Given the description of an element on the screen output the (x, y) to click on. 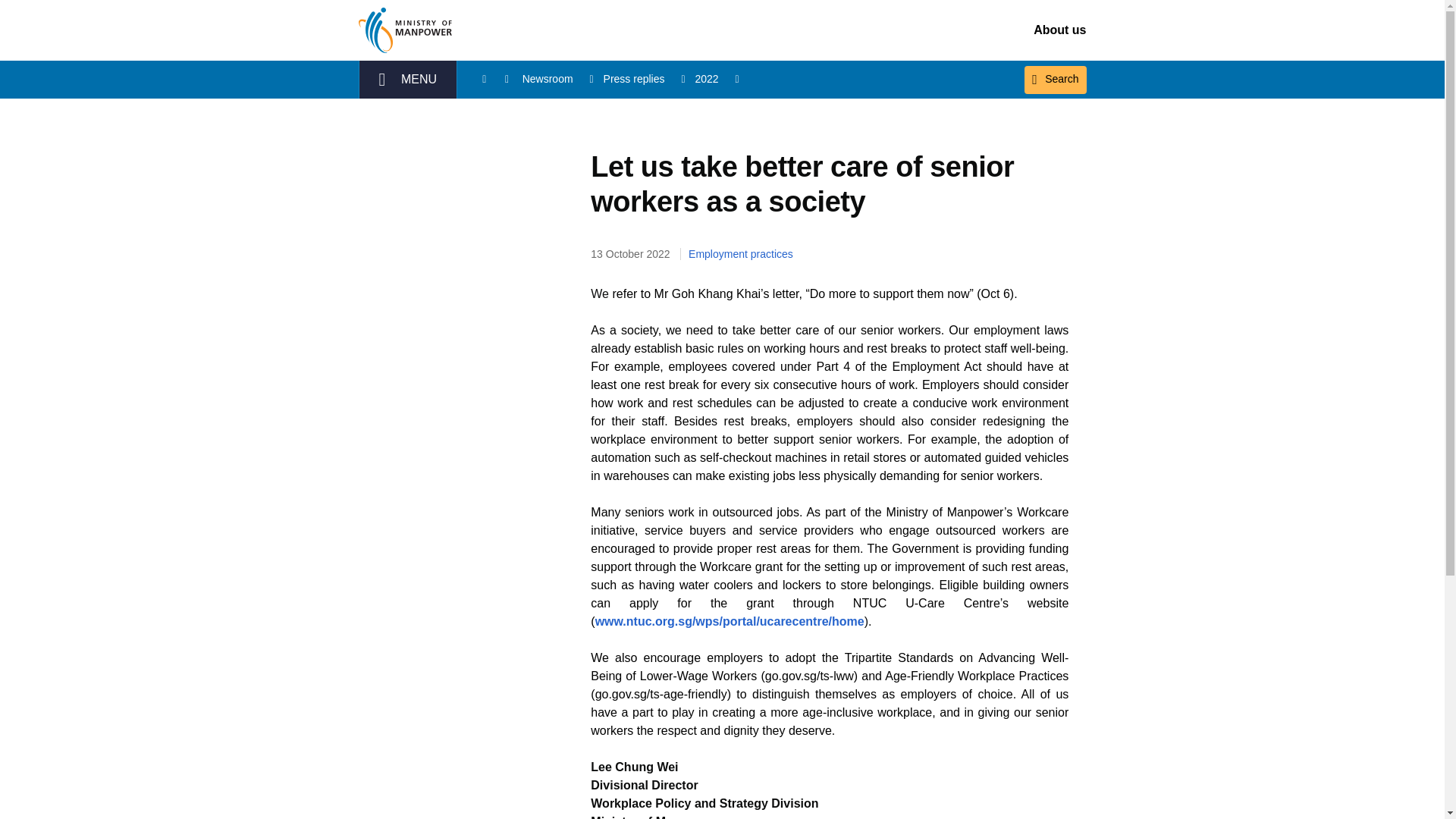
Newsroom (558, 78)
Newsroom (558, 78)
About us (1059, 30)
Home (495, 79)
Search (1055, 80)
Press replies (645, 78)
Home (495, 79)
Ministry of Manpower Homepage (407, 30)
2022 (717, 78)
MENU (407, 79)
Employment practices (739, 254)
Ministry of Manpower (407, 30)
Press replies (645, 78)
2022 (717, 78)
